Given the description of an element on the screen output the (x, y) to click on. 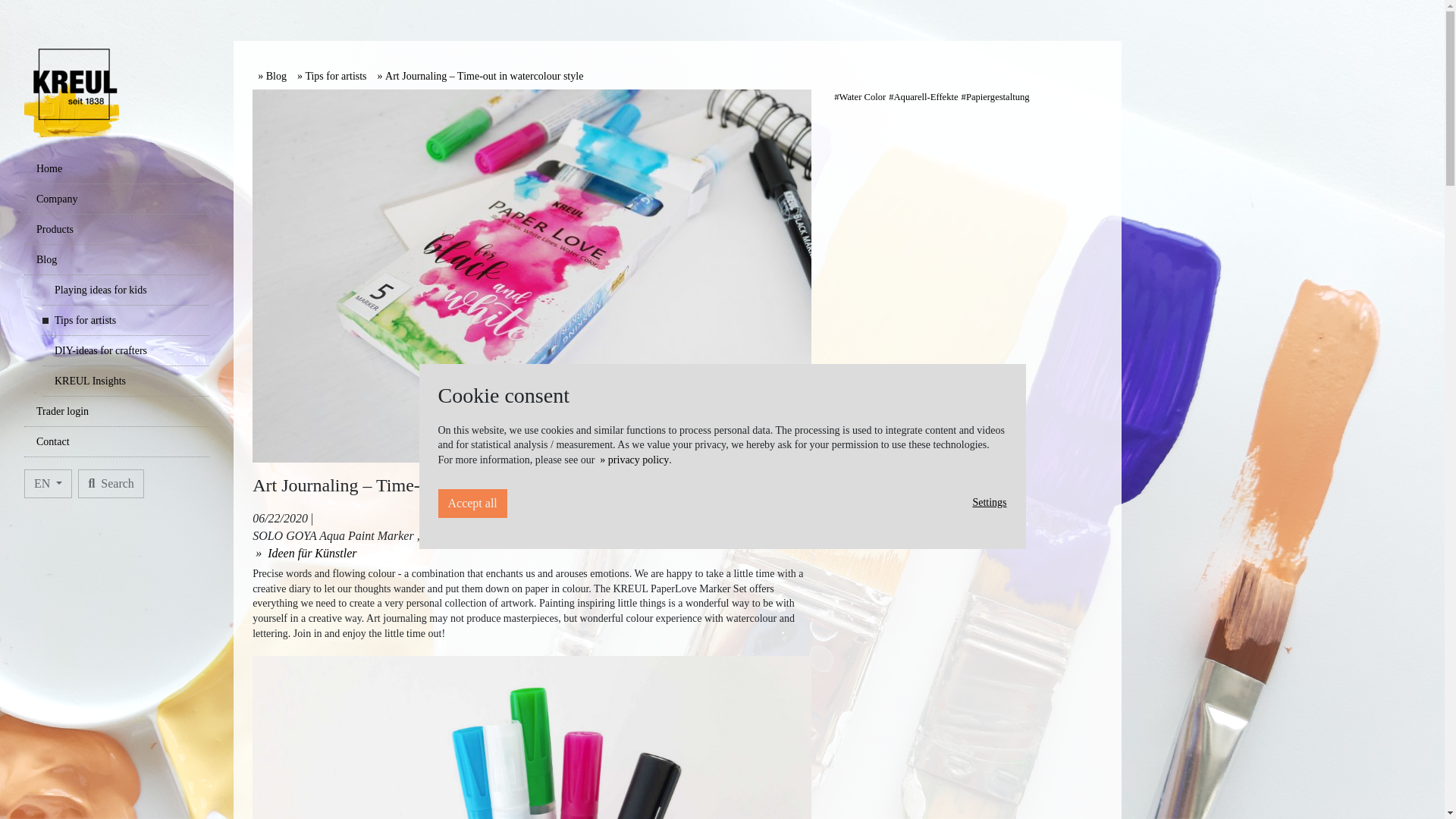
Contact (116, 441)
Trader login (116, 411)
Tips for artists (331, 75)
KREUL Insights (125, 381)
Blog (116, 259)
Available Languages (47, 483)
Products (116, 229)
Tips for artists (125, 320)
Blog (271, 75)
